Given the description of an element on the screen output the (x, y) to click on. 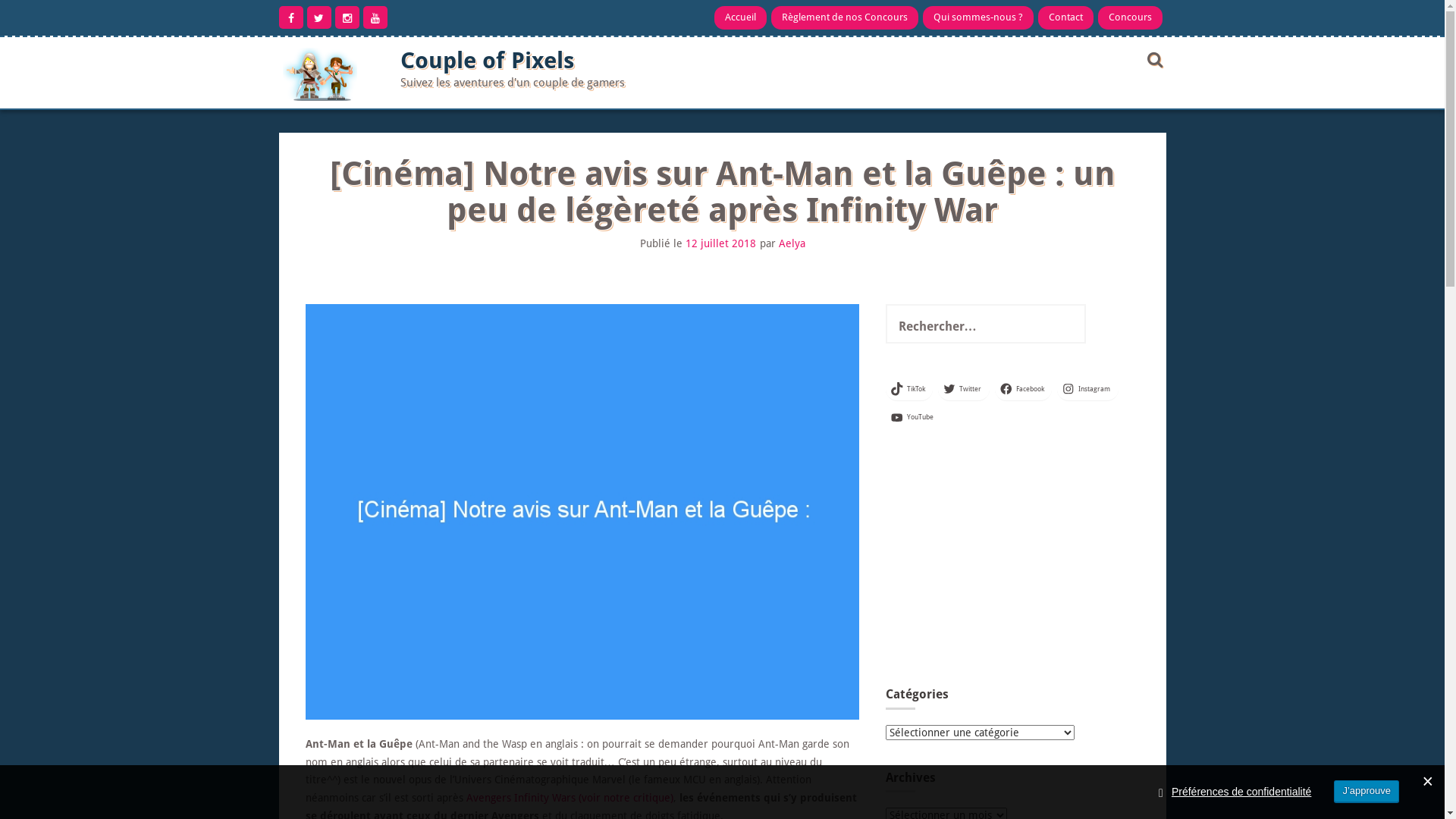
Instagram Element type: text (1087, 388)
Avengers Infinity Wars (voir notre critique) Element type: text (568, 797)
Facebook Element type: text (1023, 388)
Concours Element type: text (1130, 17)
Advertisement Element type: hover (1010, 561)
Twitter Element type: text (963, 388)
Qui sommes-nous ? Element type: text (977, 17)
TikTok Element type: text (909, 388)
Accueil Element type: text (740, 17)
Couple of Pixels Element type: text (487, 60)
Aelya Element type: text (791, 243)
Contact Element type: text (1064, 17)
YouTube Element type: text (913, 417)
Rechercher Element type: text (32, 9)
12 juillet 2018 Element type: text (720, 243)
